Given the description of an element on the screen output the (x, y) to click on. 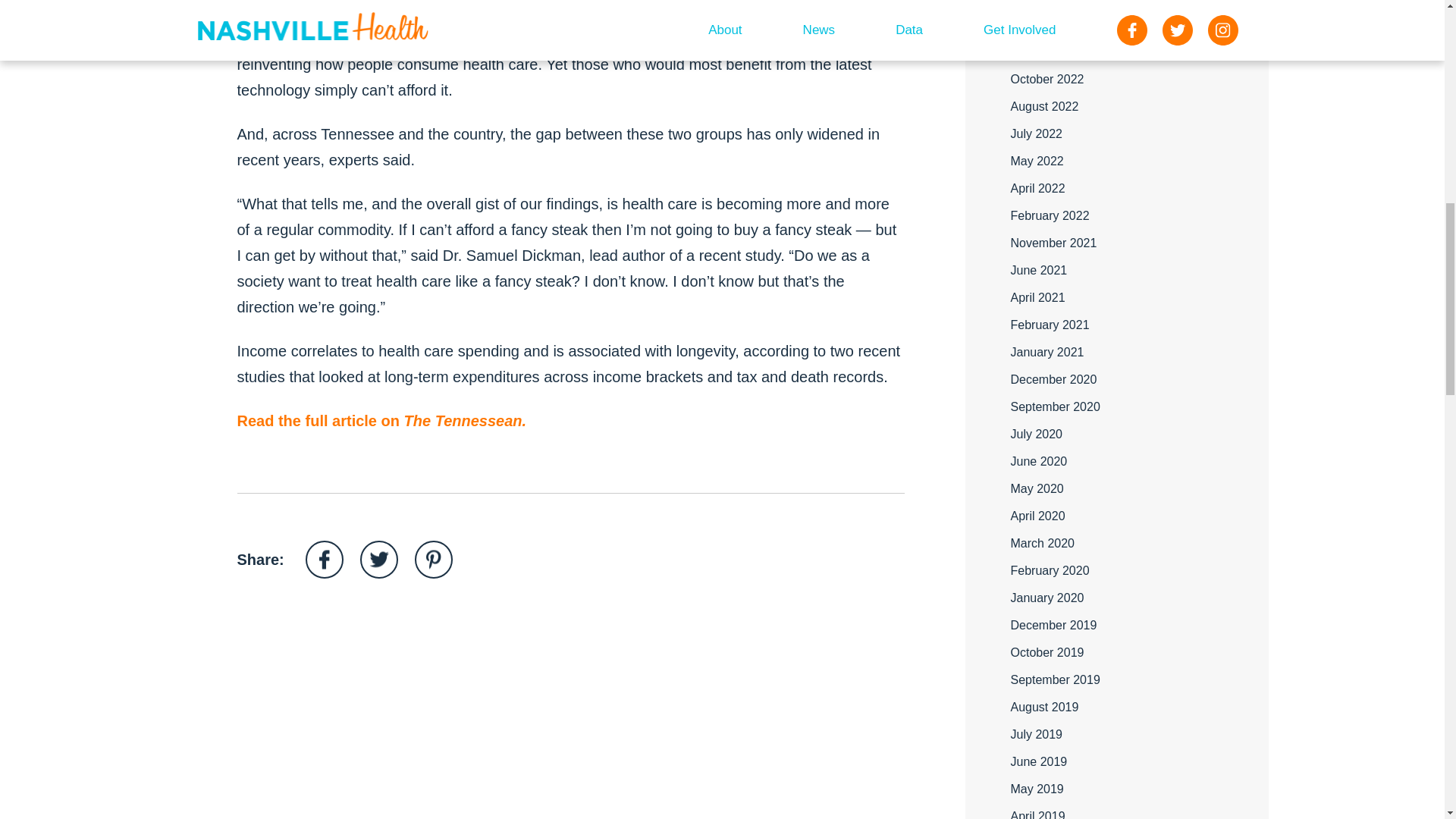
February 2023 (1049, 2)
October 2022 (1046, 78)
April 2021 (1037, 297)
May 2022 (1036, 160)
February 2022 (1049, 215)
June 2021 (1038, 269)
April 2022 (1037, 187)
Read the full article on The Tennessean. (380, 420)
November 2021 (1053, 242)
July 2022 (1036, 133)
January 2021 (1046, 351)
August 2022 (1044, 106)
January 2023 (1046, 24)
December 2022 (1053, 51)
February 2021 (1049, 324)
